Given the description of an element on the screen output the (x, y) to click on. 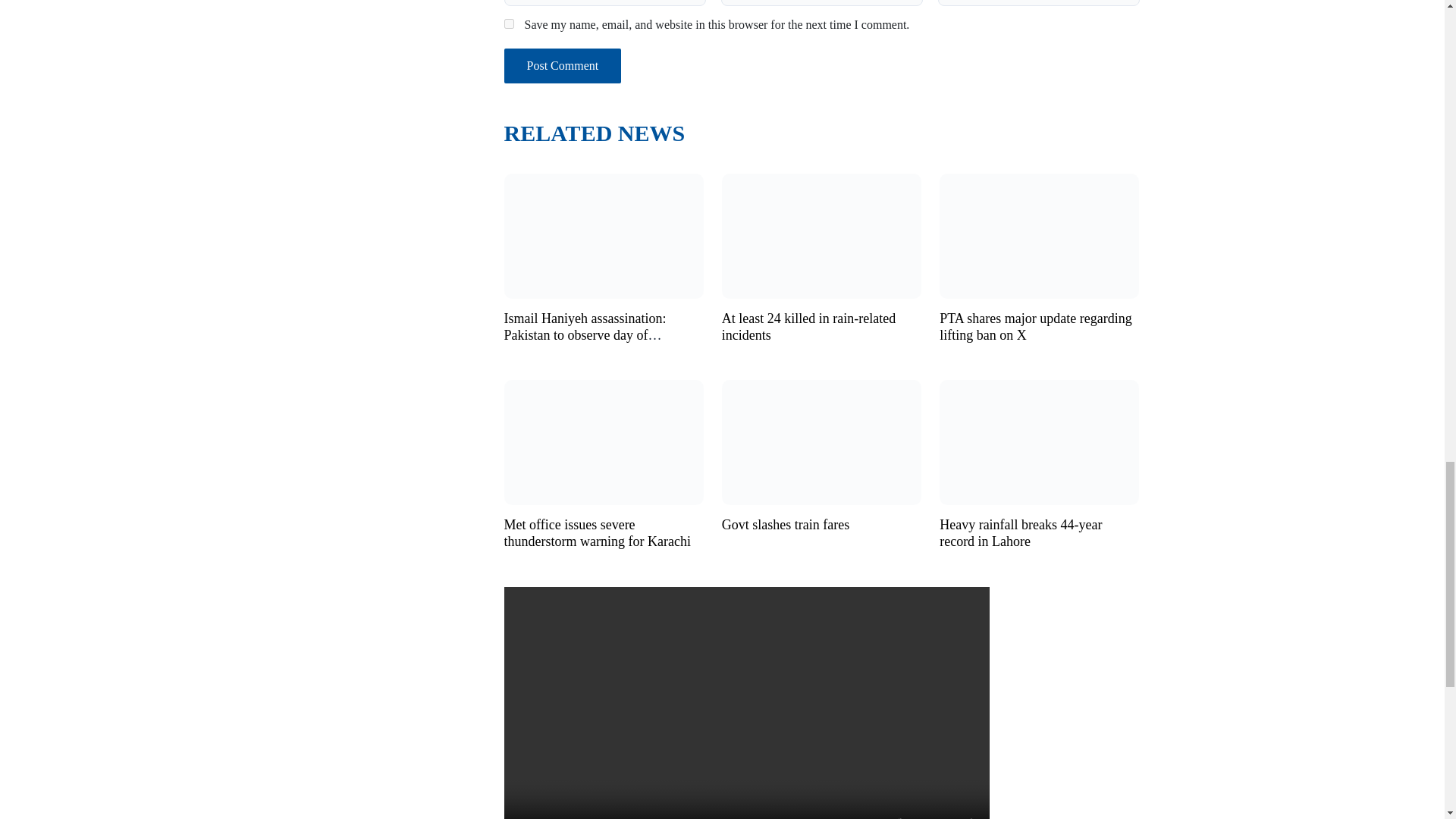
Met office issues severe thunderstorm warning for Karachi (596, 532)
Post Comment (562, 65)
At least 24 killed in rain-related incidents (821, 234)
At least 24 killed in rain-related incidents (808, 327)
yes (508, 23)
Govt slashes train fares (821, 440)
Met office issues severe thunderstorm warning for Karachi (603, 440)
PTA shares major update regarding lifting ban on X (1035, 327)
